Given the description of an element on the screen output the (x, y) to click on. 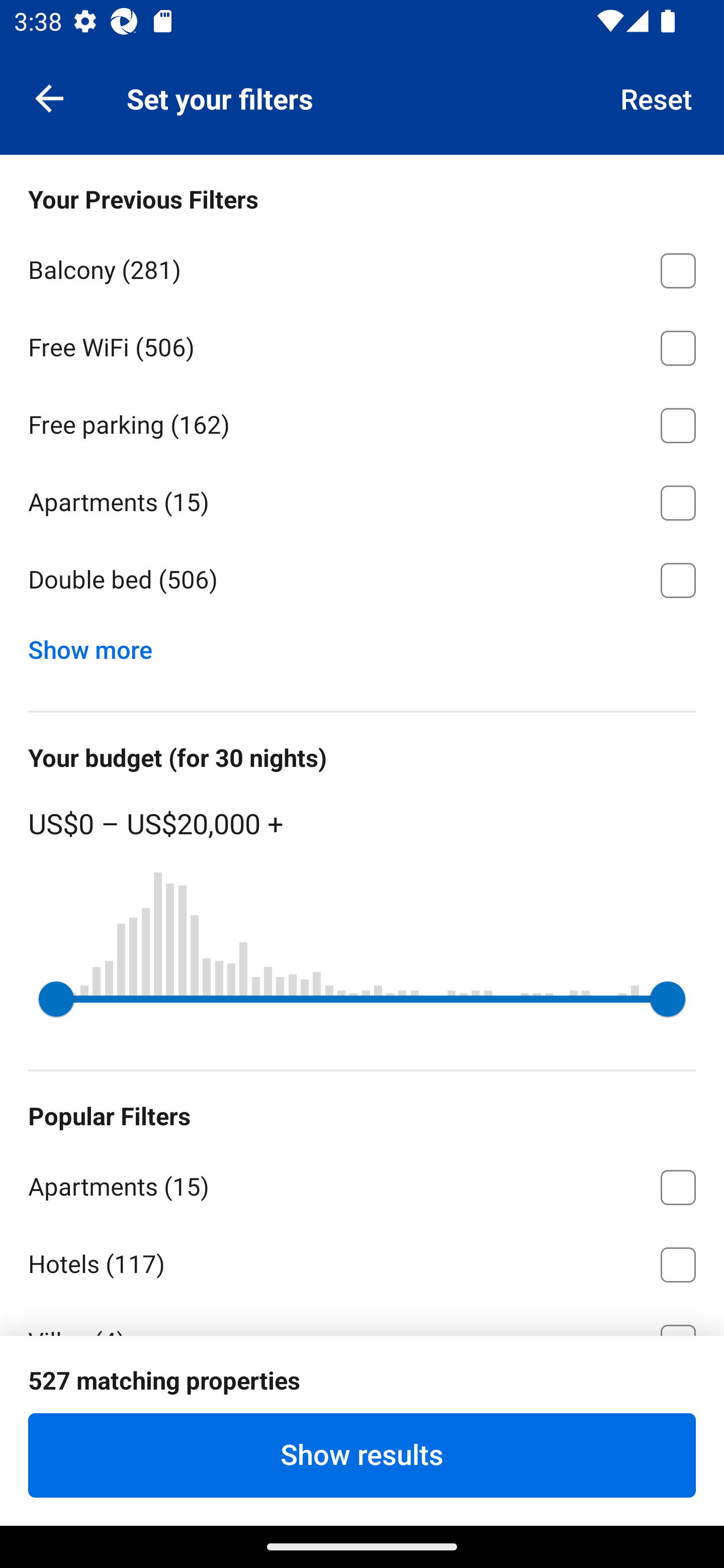
Navigate up (49, 97)
Reset (656, 97)
Balcony ⁦(281) (361, 266)
Free WiFi ⁦(506) (361, 344)
Free parking ⁦(162) (361, 422)
Apartments ⁦(15) (361, 498)
Double bed ⁦(506) (361, 579)
Show more (97, 645)
0.0 Range start,US$0 20000.0 Range end,US$20,000 + (361, 998)
Apartments ⁦(15) (361, 1183)
Hotels ⁦(117) (361, 1261)
Show results (361, 1454)
